Given the description of an element on the screen output the (x, y) to click on. 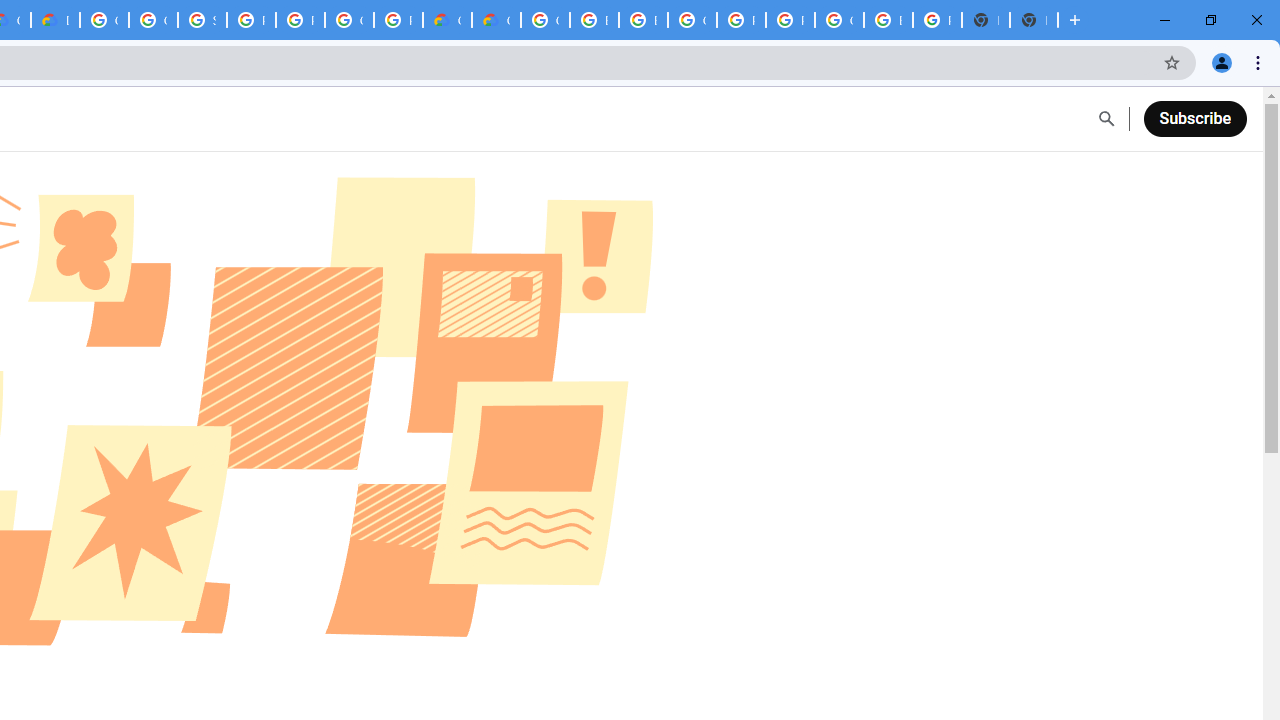
Subscribe (1194, 118)
Customer Care | Google Cloud (447, 20)
Google Cloud Platform (692, 20)
New Tab (1033, 20)
Google Cloud Estimate Summary (496, 20)
